Given the description of an element on the screen output the (x, y) to click on. 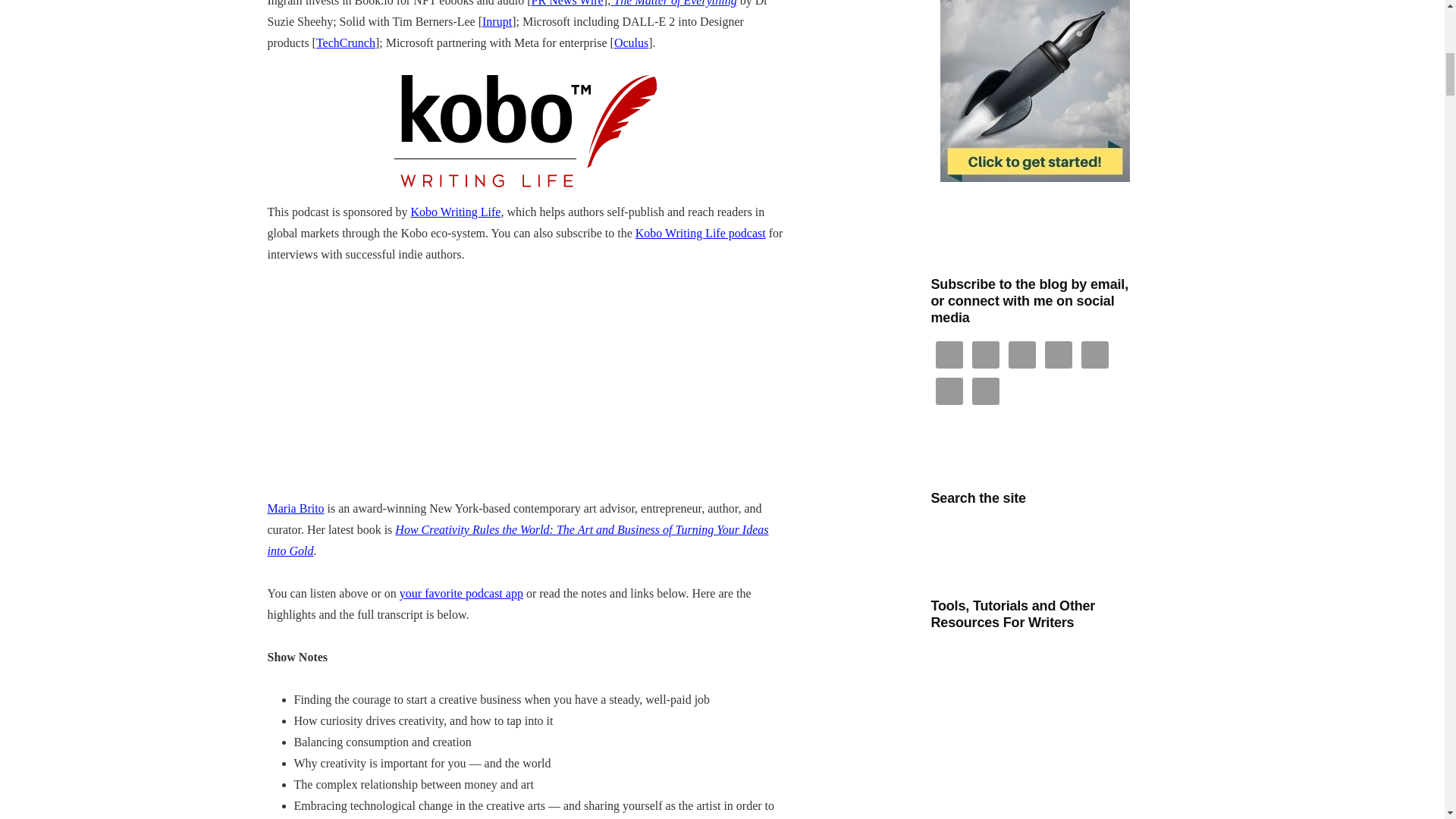
Maria Brito (294, 508)
TechCrunch (345, 42)
Oculus (630, 42)
your favorite podcast app (460, 593)
Inrupt (496, 21)
The Matter of Everything (673, 3)
Kobo Writing Life (455, 211)
PR News Wire (567, 3)
Kobo Writing Life podcast (699, 232)
